Given the description of an element on the screen output the (x, y) to click on. 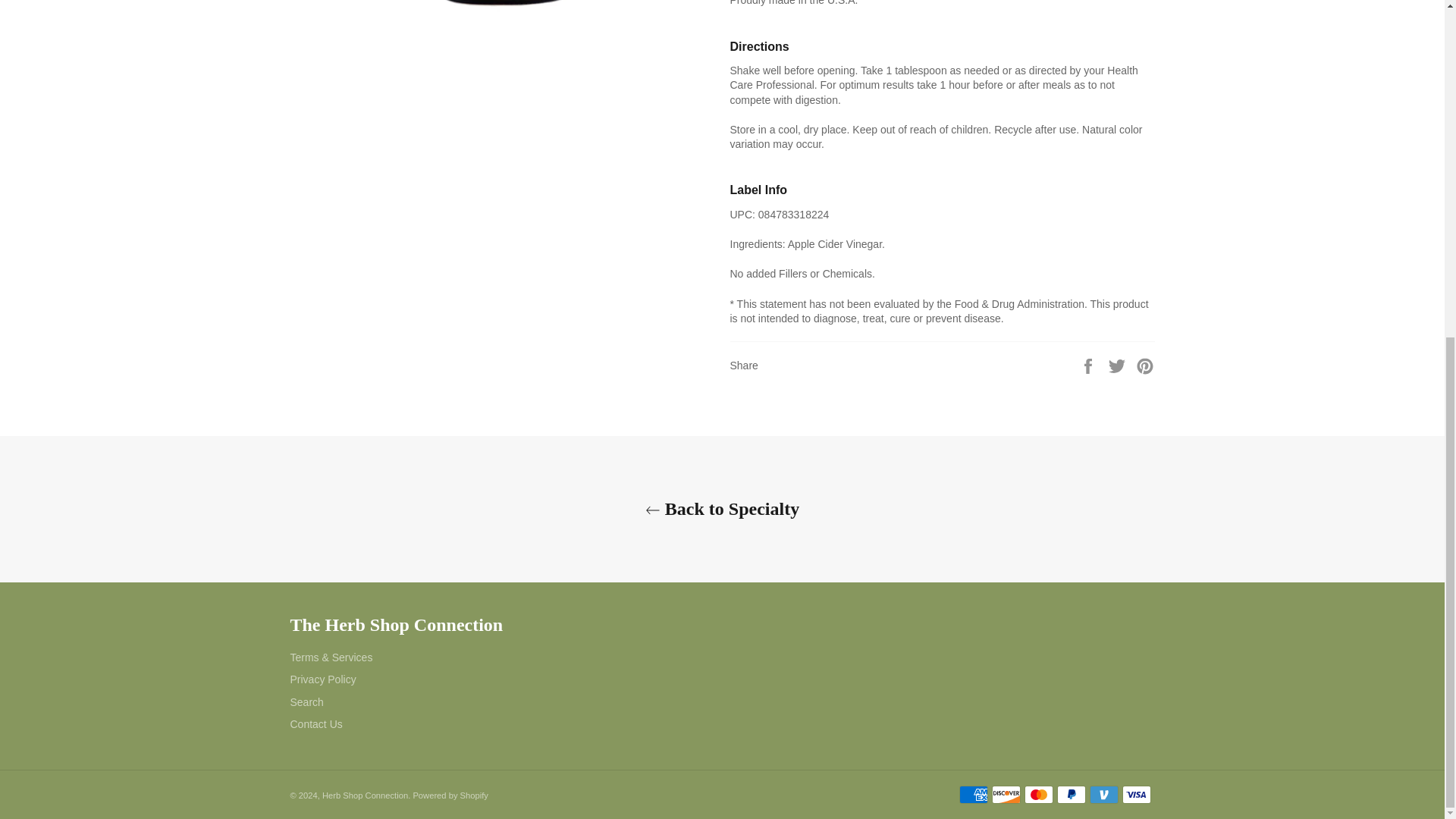
Pin on Pinterest (1144, 365)
Tweet on Twitter (1118, 365)
Share on Facebook (1089, 365)
